Given the description of an element on the screen output the (x, y) to click on. 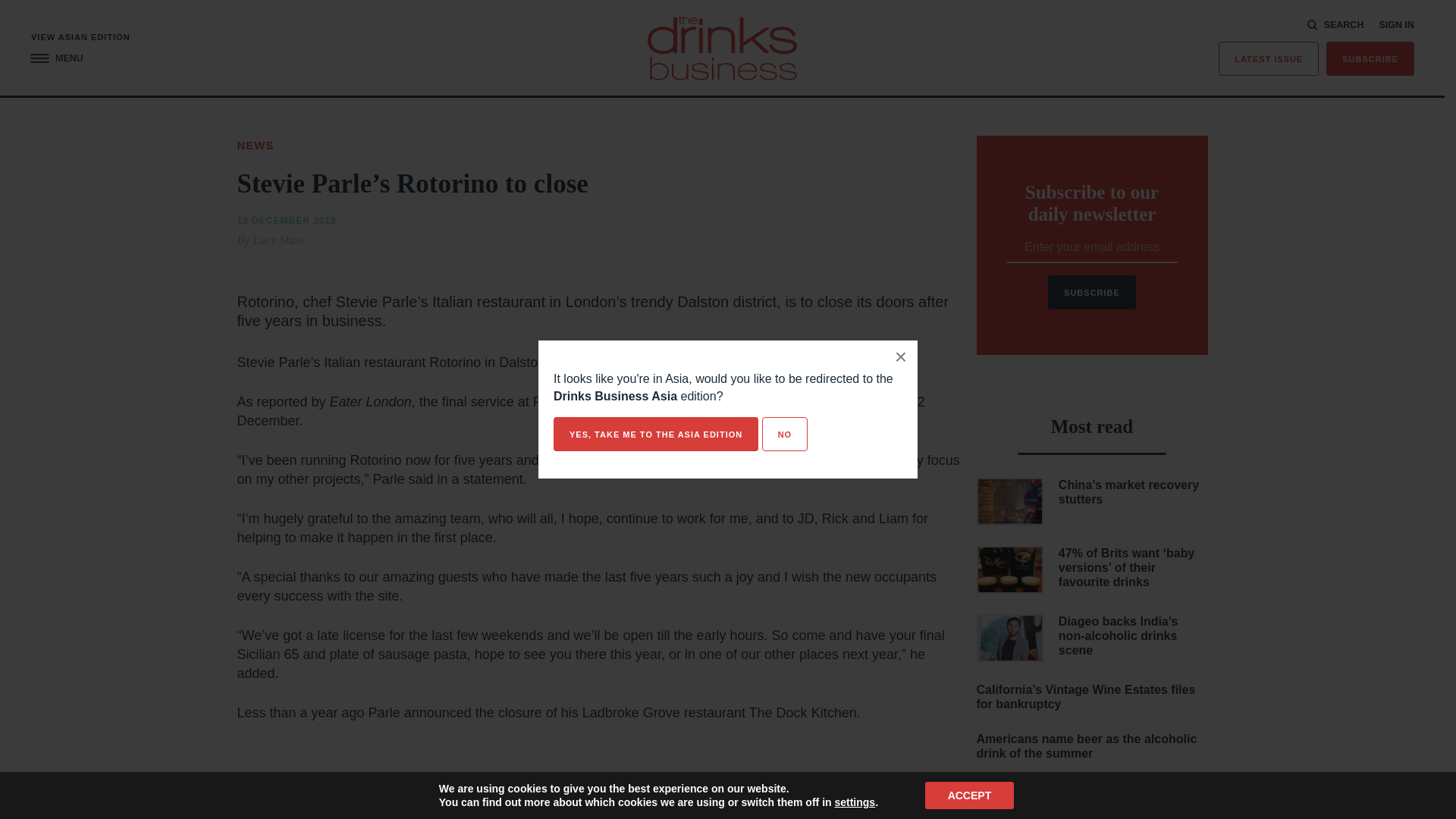
The Drinks Business (721, 47)
NO (784, 433)
YES, TAKE ME TO THE ASIA EDITION (655, 433)
LATEST ISSUE (1268, 58)
SUBSCRIBE (1369, 58)
SIGN IN (1395, 25)
VIEW ASIAN EDITION (80, 37)
